Given the description of an element on the screen output the (x, y) to click on. 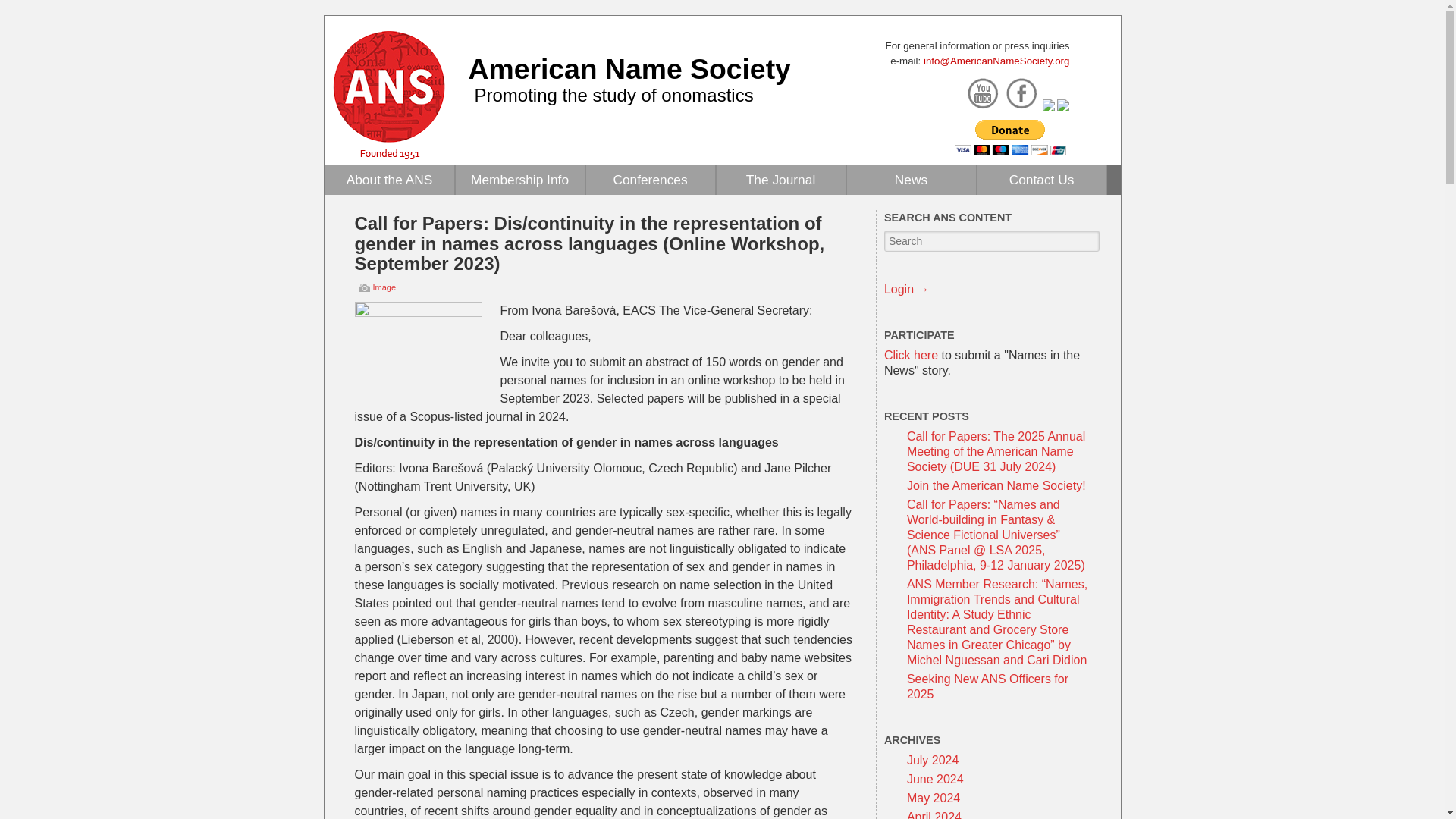
Promoting the study of onomastics (614, 95)
Membership Info (518, 179)
Image (384, 286)
American Name Society (629, 69)
Click here (910, 354)
The Journal (780, 179)
Contact Us (1040, 179)
Search (37, 13)
About the ANS (388, 179)
News (910, 179)
